Given the description of an element on the screen output the (x, y) to click on. 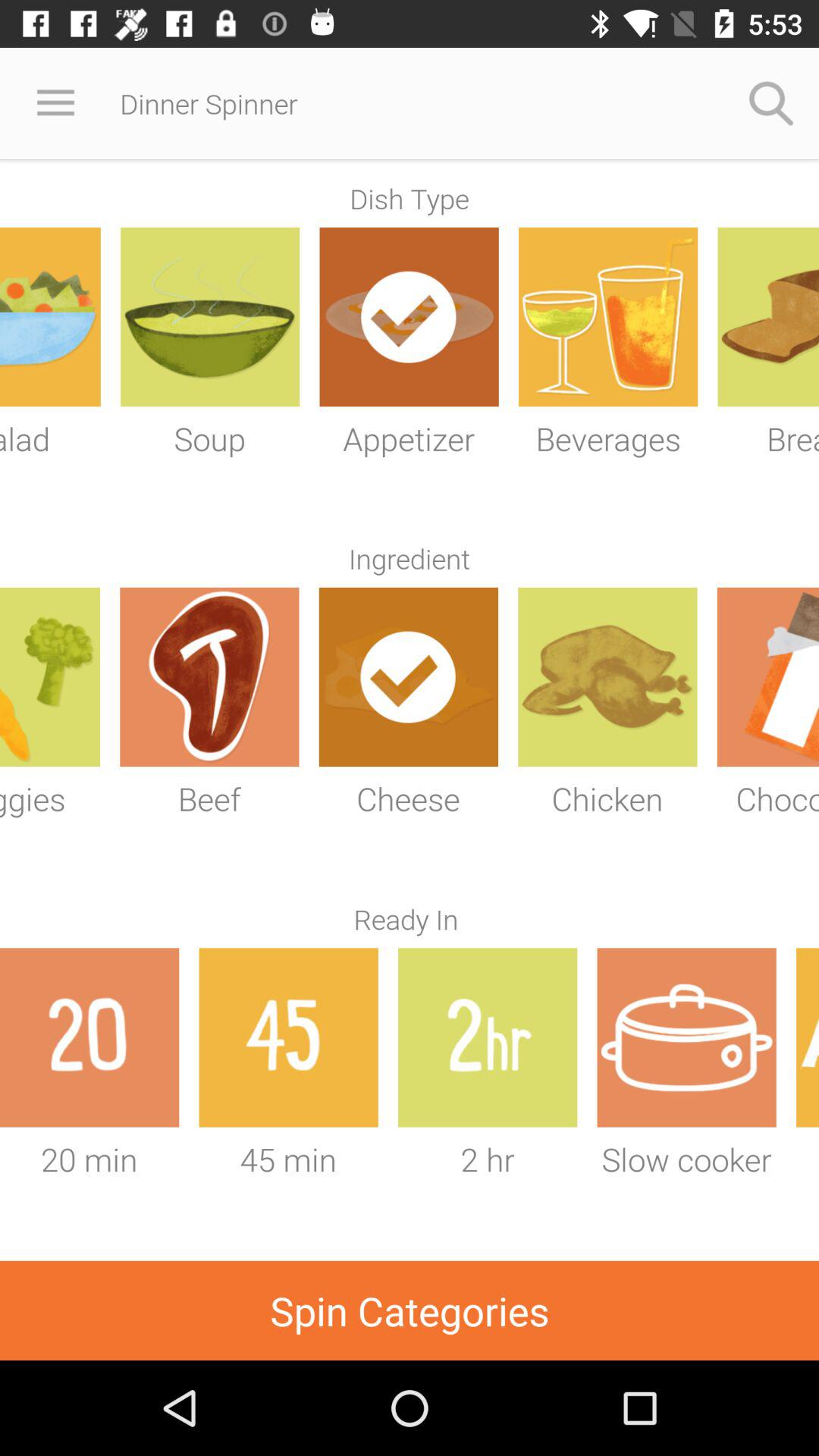
choose item below the 20 min icon (409, 1310)
